Given the description of an element on the screen output the (x, y) to click on. 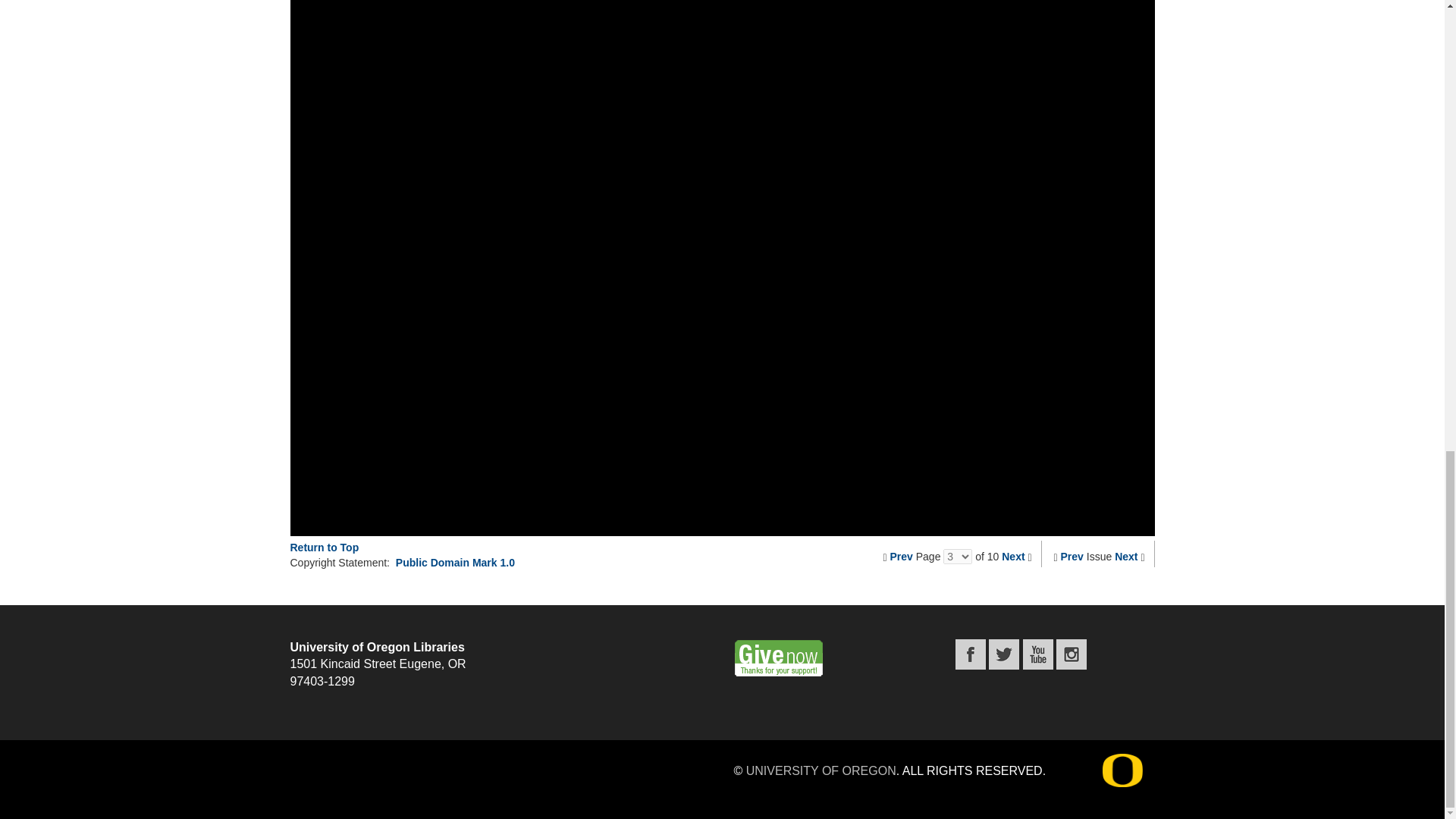
Prev (1072, 556)
Next (1013, 556)
Prev (900, 556)
Next (1126, 556)
Return to Top (323, 547)
Public Domain Mark 1.0 (455, 562)
